Given the description of an element on the screen output the (x, y) to click on. 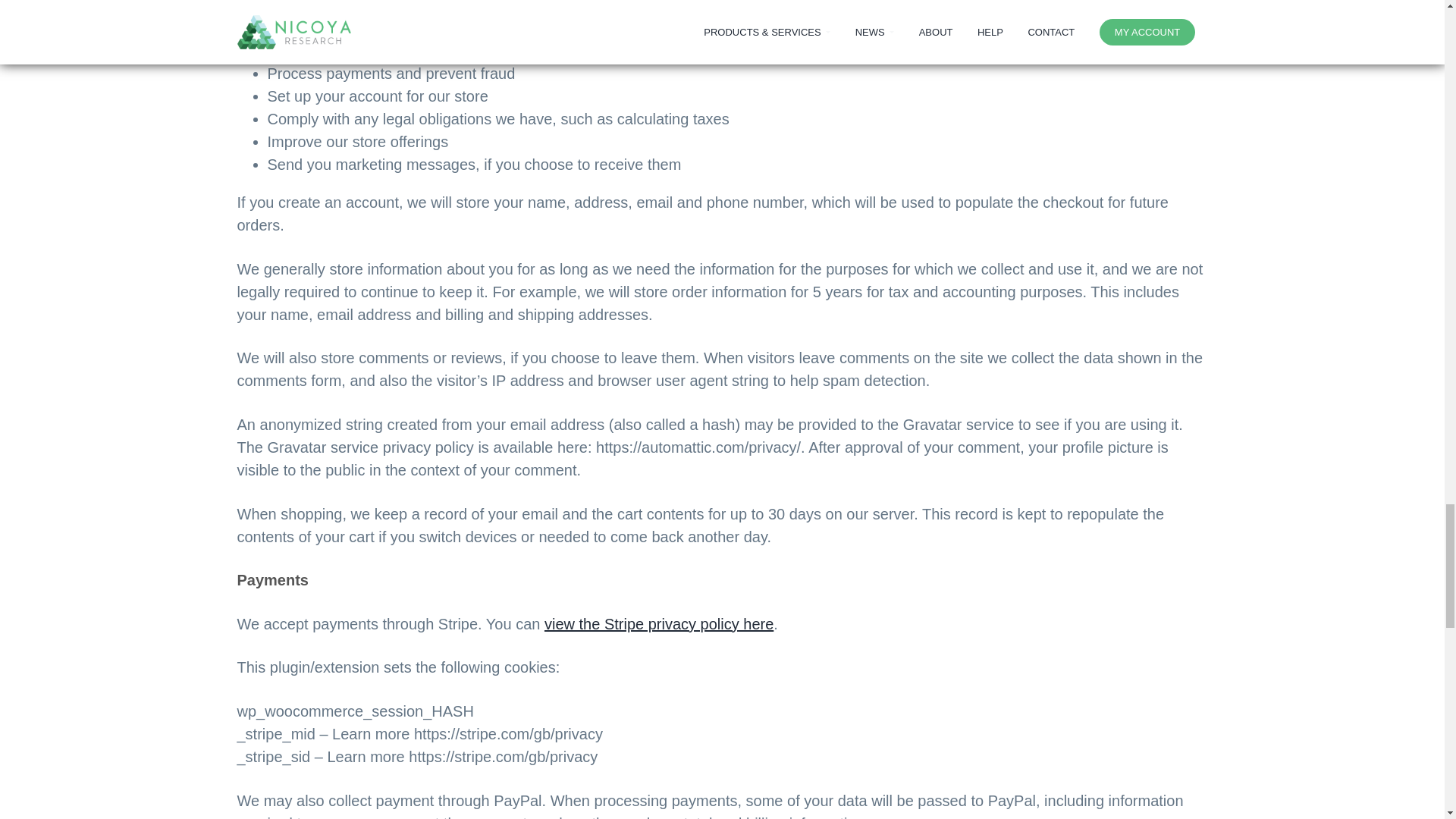
view the Stripe privacy policy here (658, 623)
